Given the description of an element on the screen output the (x, y) to click on. 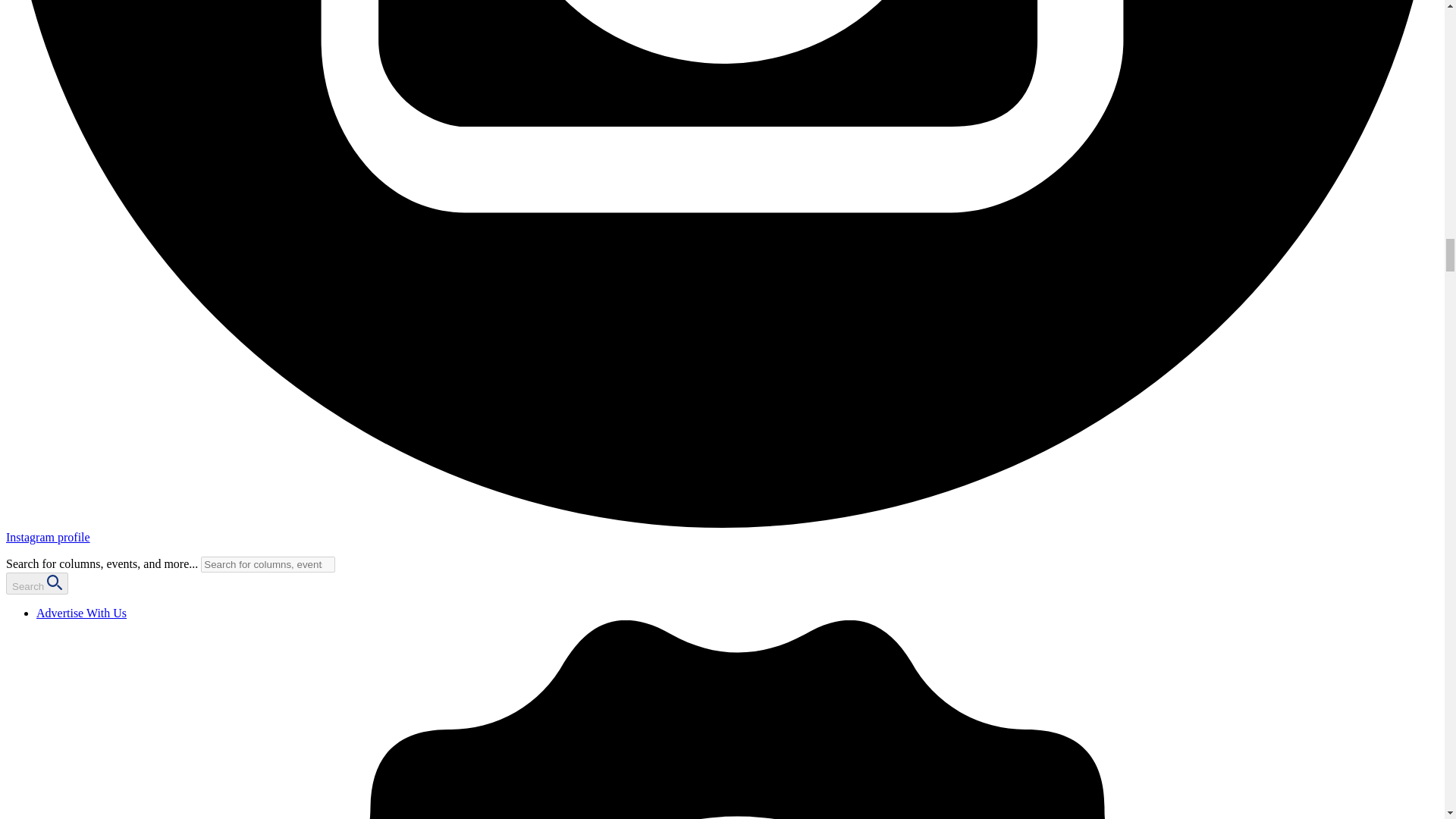
Advertise With Us (81, 612)
Search (36, 583)
